Given the description of an element on the screen output the (x, y) to click on. 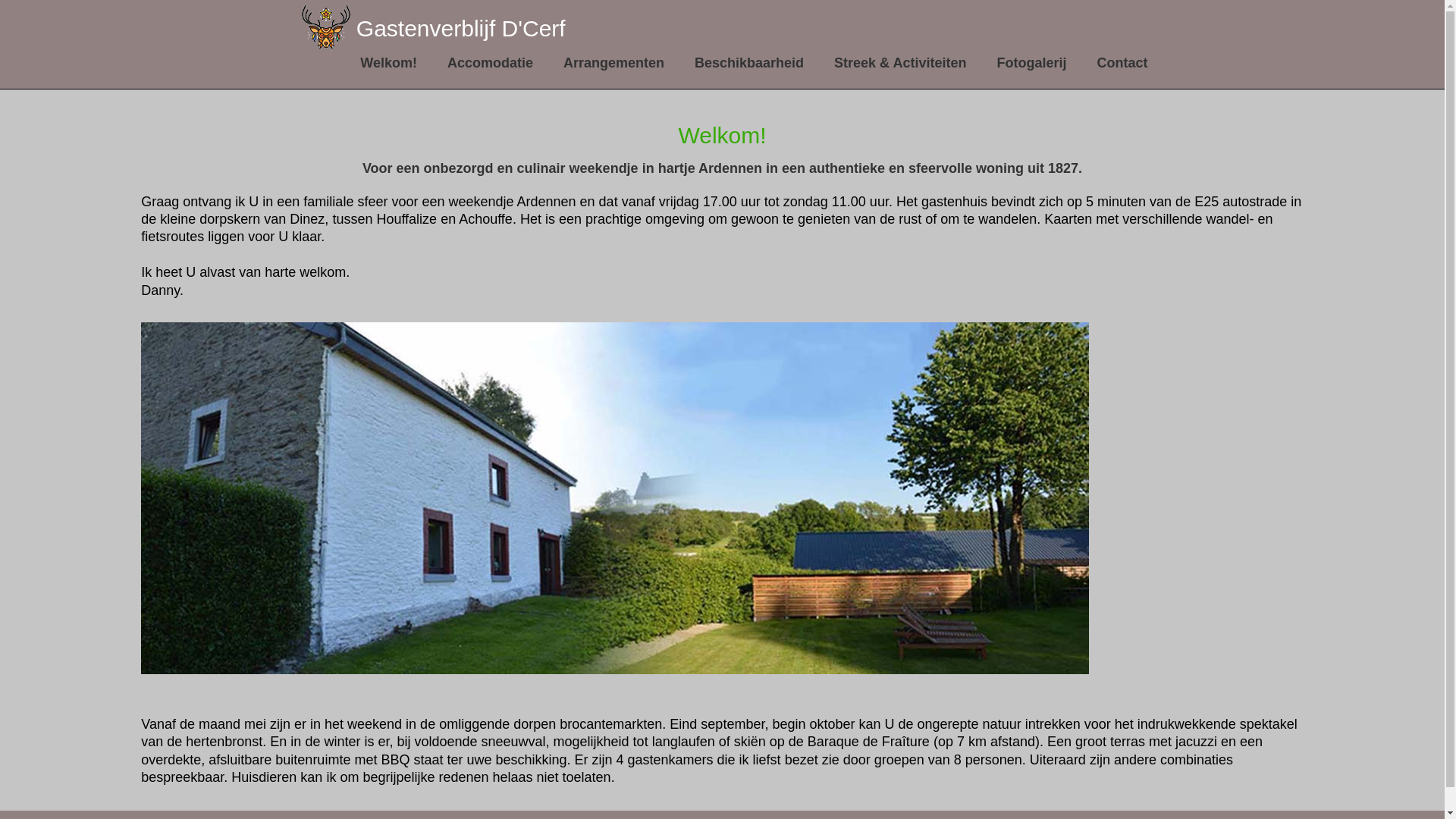
Contact Element type: text (1122, 62)
Beschikbaarheid Element type: text (749, 62)
Arrangementen Element type: text (613, 62)
Accomodatie Element type: text (489, 62)
Fotogalerij Element type: text (1030, 62)
Welkom! Element type: text (388, 62)
Streek & Activiteiten Element type: text (899, 62)
